Given the description of an element on the screen output the (x, y) to click on. 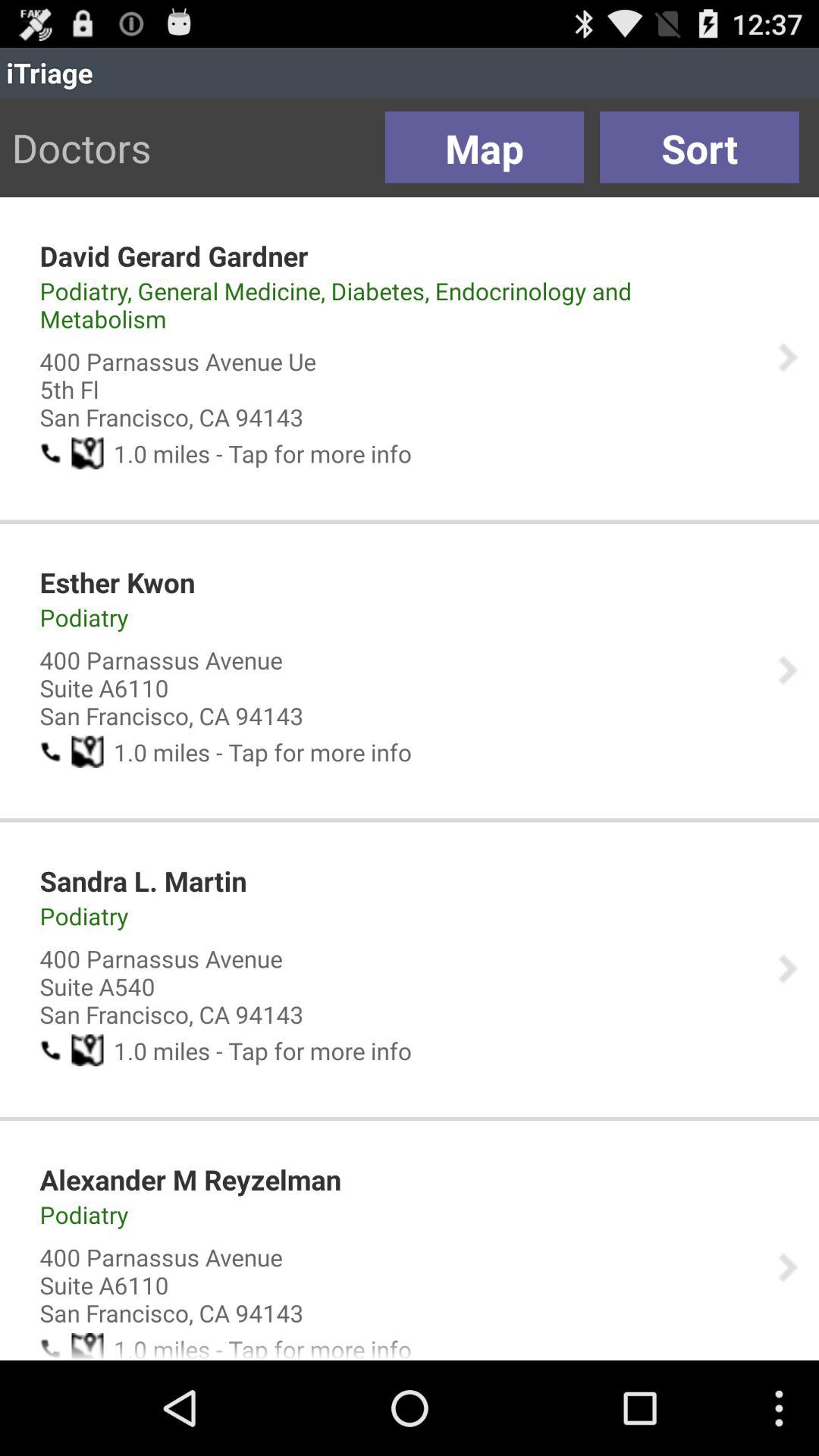
select the app to the right of the map (699, 147)
